Given the description of an element on the screen output the (x, y) to click on. 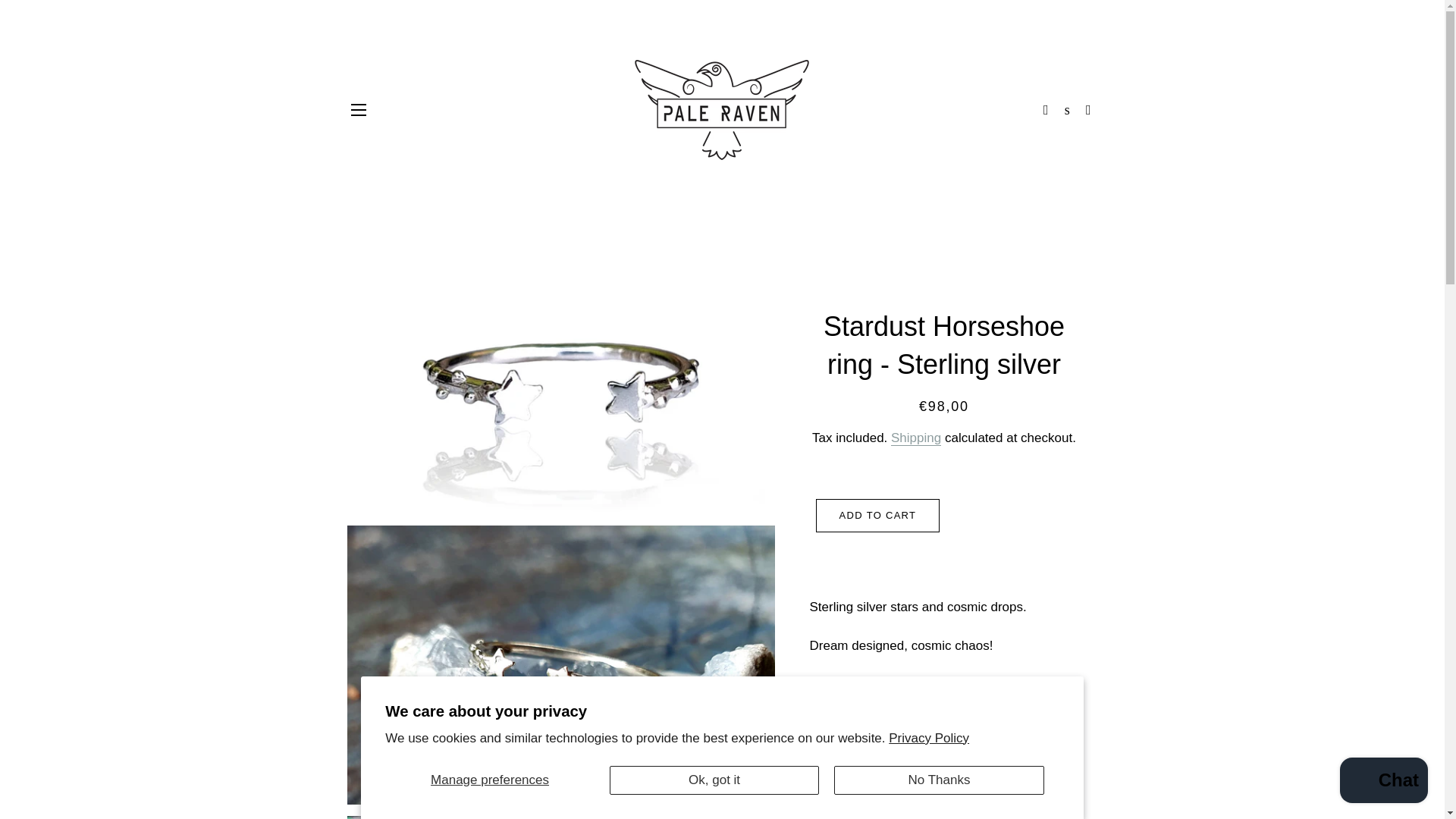
Privacy Policy (928, 738)
Shopify online store chat (1383, 781)
Manage preferences (489, 779)
Ok, got it (714, 779)
No Thanks (938, 779)
SITE NAVIGATION (358, 109)
